Given the description of an element on the screen output the (x, y) to click on. 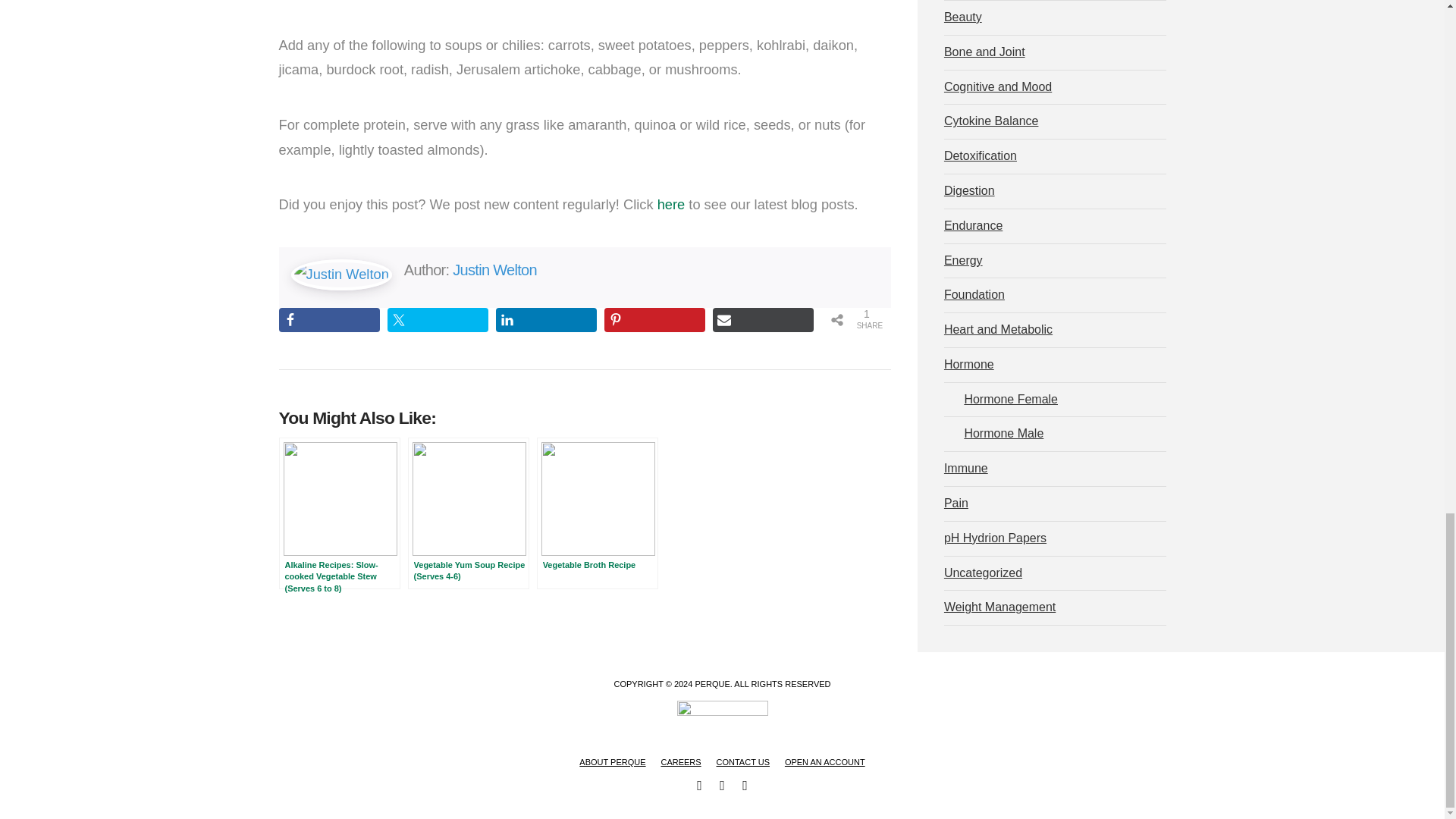
Share on LinkedIn (546, 319)
Share via Email (763, 319)
Share on Twitter (437, 319)
Share on Pinterest (654, 319)
Share on Facebook (329, 319)
